Given the description of an element on the screen output the (x, y) to click on. 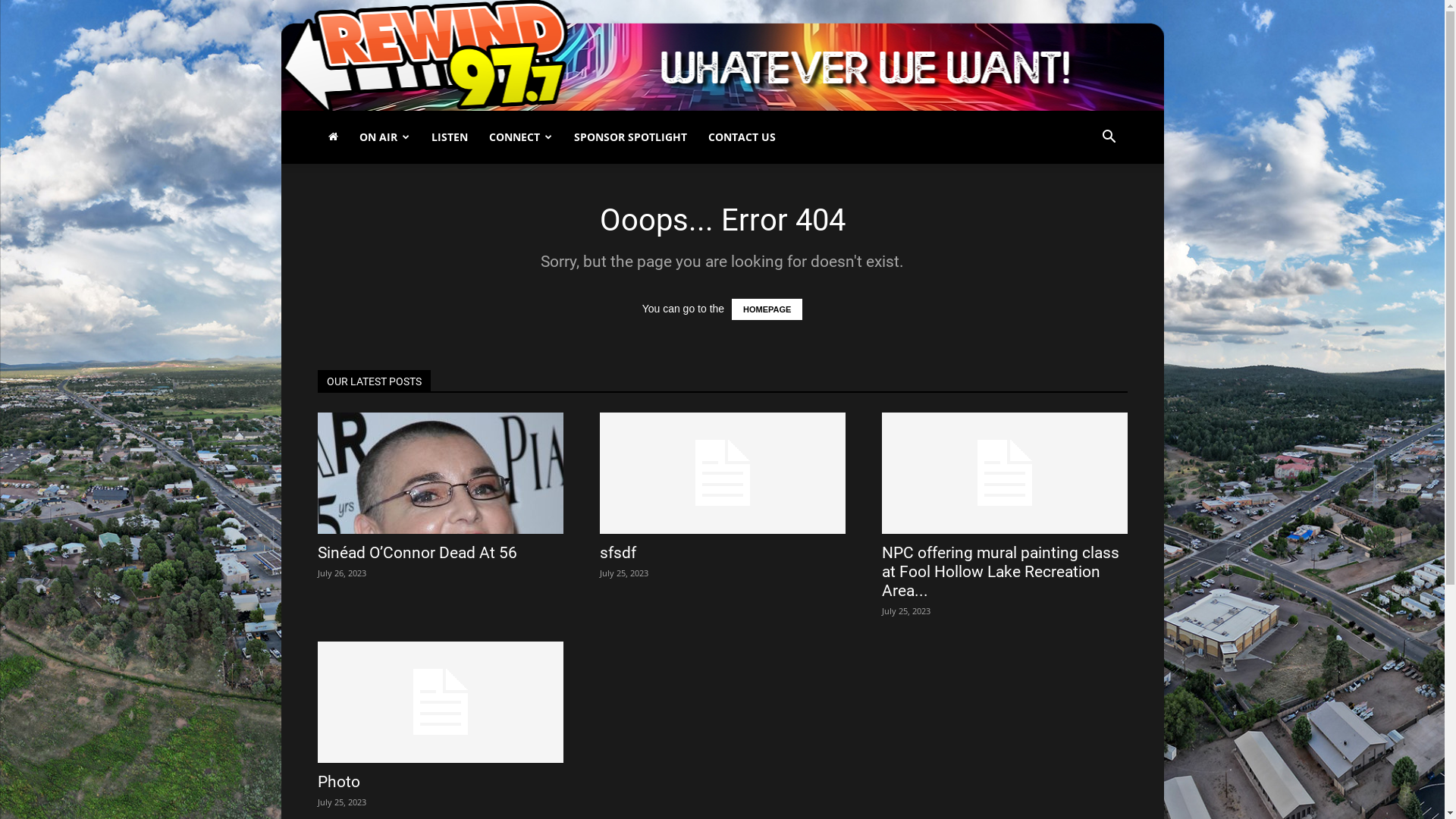
sfsdf Element type: hover (721, 472)
Search Element type: text (1083, 206)
CONNECT Element type: text (519, 136)
Photo Element type: text (337, 781)
Photo Element type: hover (439, 701)
LISTEN Element type: text (448, 136)
SPONSOR SPOTLIGHT Element type: text (629, 136)
sfsdf Element type: text (617, 552)
ON AIR Element type: text (384, 136)
HOMEPAGE Element type: text (766, 309)
CONTACT US Element type: text (741, 136)
